Given the description of an element on the screen output the (x, y) to click on. 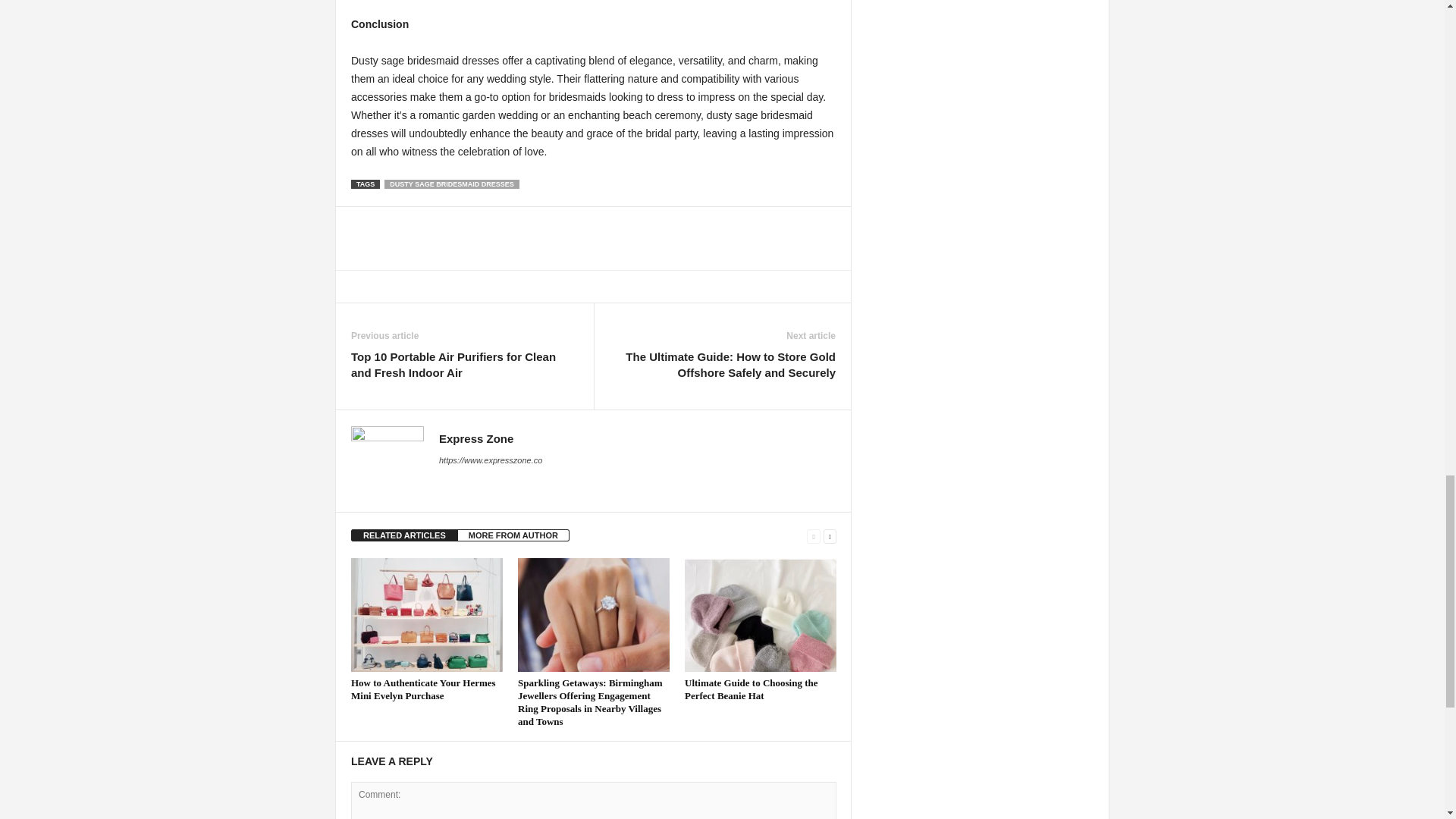
DUSTY SAGE BRIDESMAID DRESSES (451, 184)
